Given the description of an element on the screen output the (x, y) to click on. 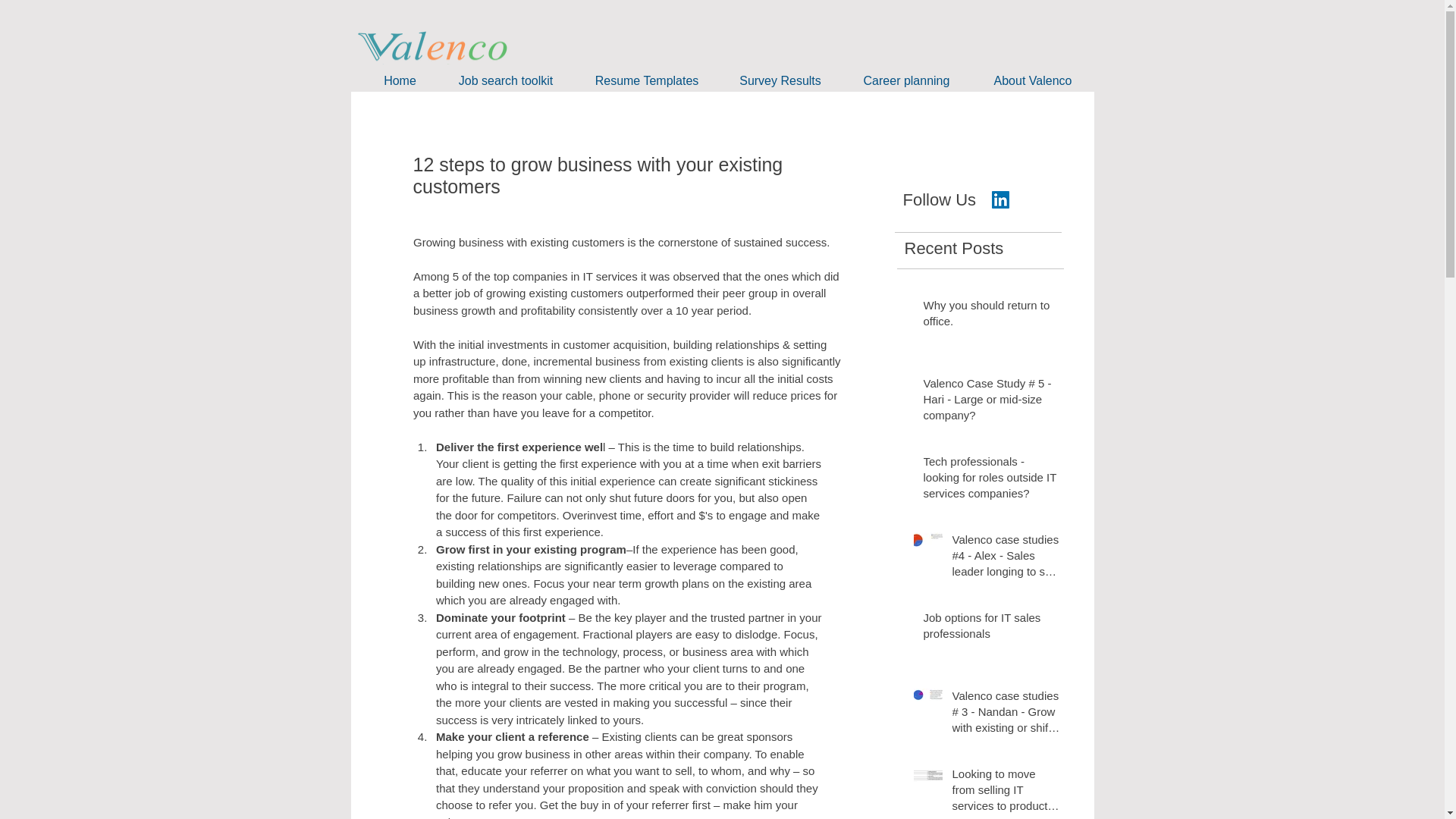
About Valenco (1033, 80)
Home (399, 80)
Job search toolkit (504, 80)
Looking to move from selling IT services to product sales? (1006, 792)
Job options for IT sales professionals (992, 628)
Career planning (906, 80)
Survey Results (780, 80)
Why you should return to office. (992, 315)
Resume Templates (647, 80)
